Given the description of an element on the screen output the (x, y) to click on. 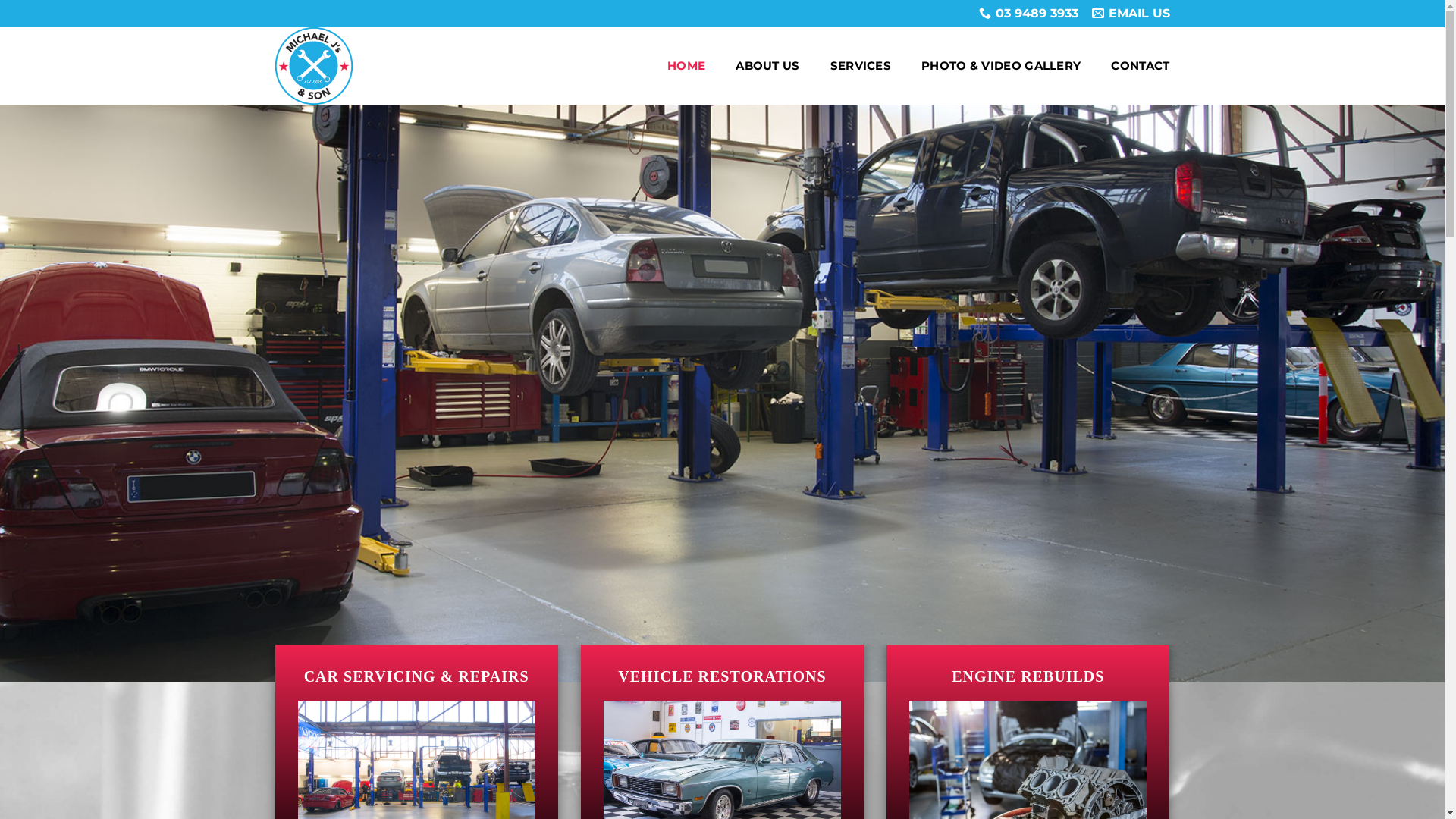
ABOUT US Element type: text (767, 65)
Michael J & Sons Element type: hover (369, 65)
PHOTO & VIDEO GALLERY Element type: text (1000, 65)
CONTACT Element type: text (1139, 65)
SERVICES Element type: text (860, 65)
03 9489 3933 Element type: text (1027, 13)
HOME Element type: text (686, 65)
EMAIL US Element type: text (1131, 13)
